Given the description of an element on the screen output the (x, y) to click on. 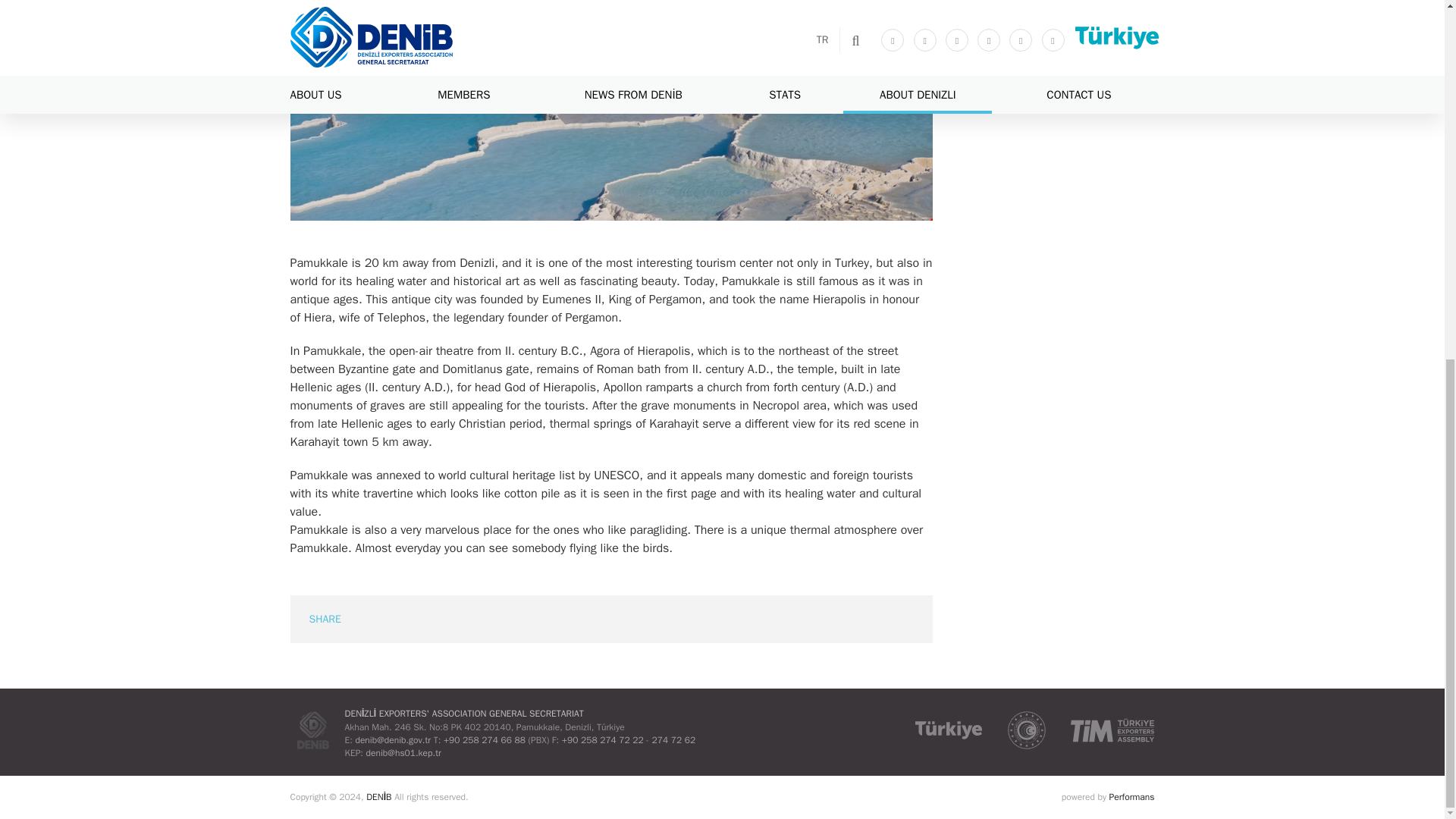
Turkish Exporters' Assembly (1112, 729)
